Given the description of an element on the screen output the (x, y) to click on. 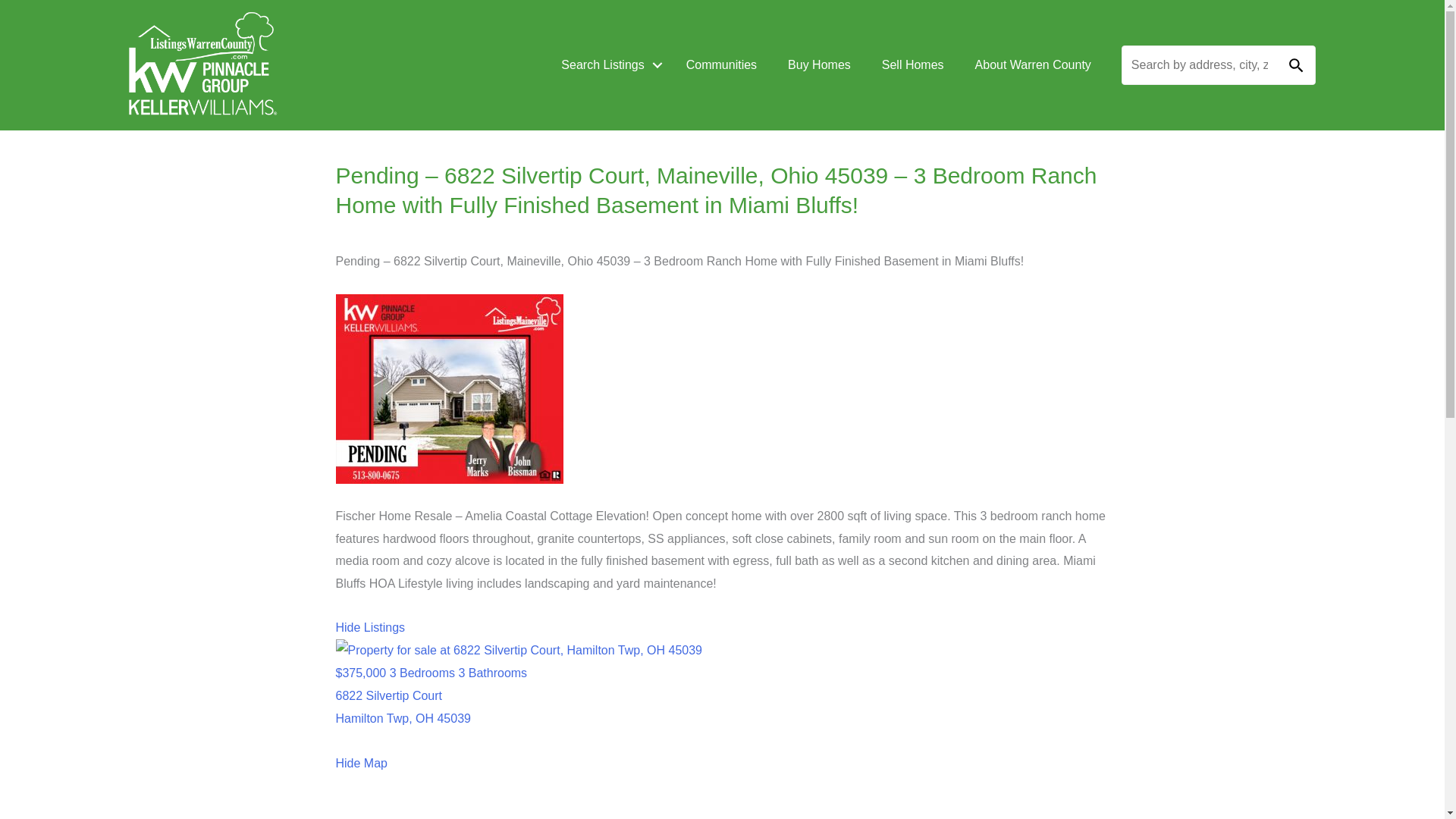
6822 Silvertip Court, Hamilton Twp,  OH 45039 (721, 706)
About Warren County (1032, 65)
Sell Homes (912, 65)
Communities (721, 65)
Search Listings (607, 65)
Buy Homes (819, 65)
Warren County (205, 59)
